Given the description of an element on the screen output the (x, y) to click on. 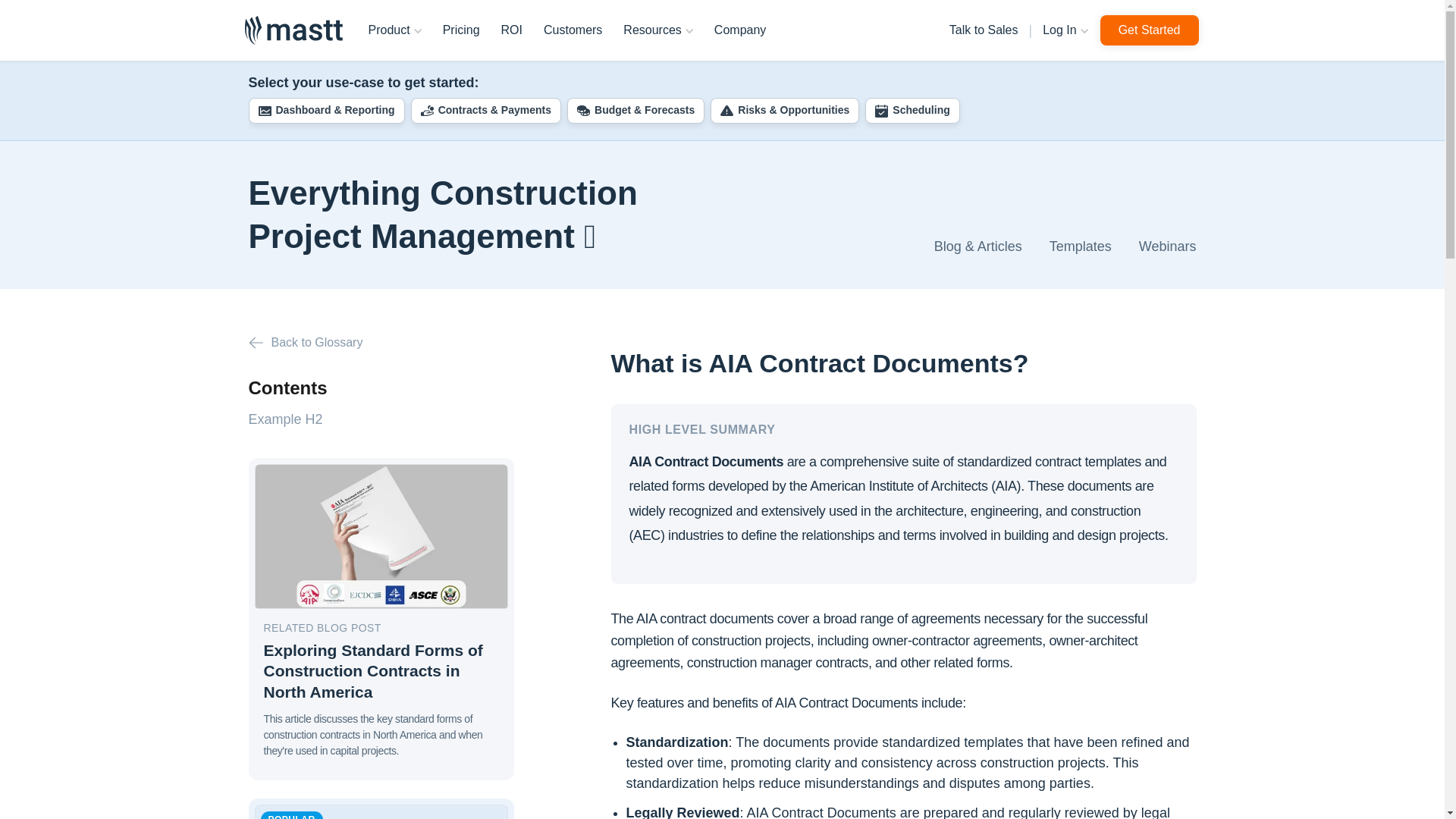
Get Started (1149, 30)
Company (739, 30)
Talk to Sales (984, 30)
Customers (572, 30)
Pricing (461, 30)
ROI (511, 30)
